Given the description of an element on the screen output the (x, y) to click on. 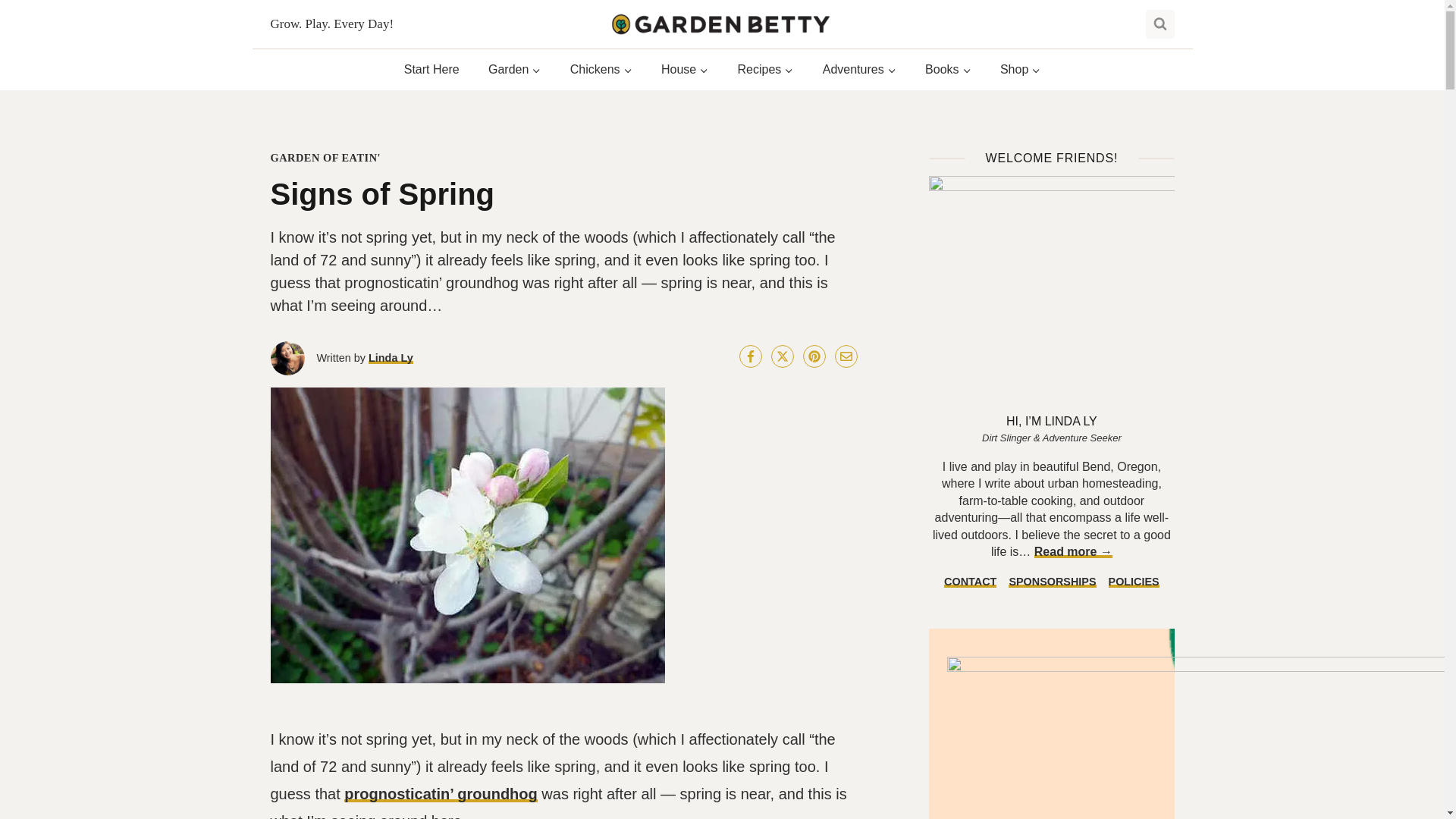
House (684, 69)
Groundhog Day (440, 793)
Recipes (765, 69)
Chickens (601, 69)
Garden (515, 69)
Start Here (432, 69)
Books (948, 69)
Adventures (859, 69)
